Given the description of an element on the screen output the (x, y) to click on. 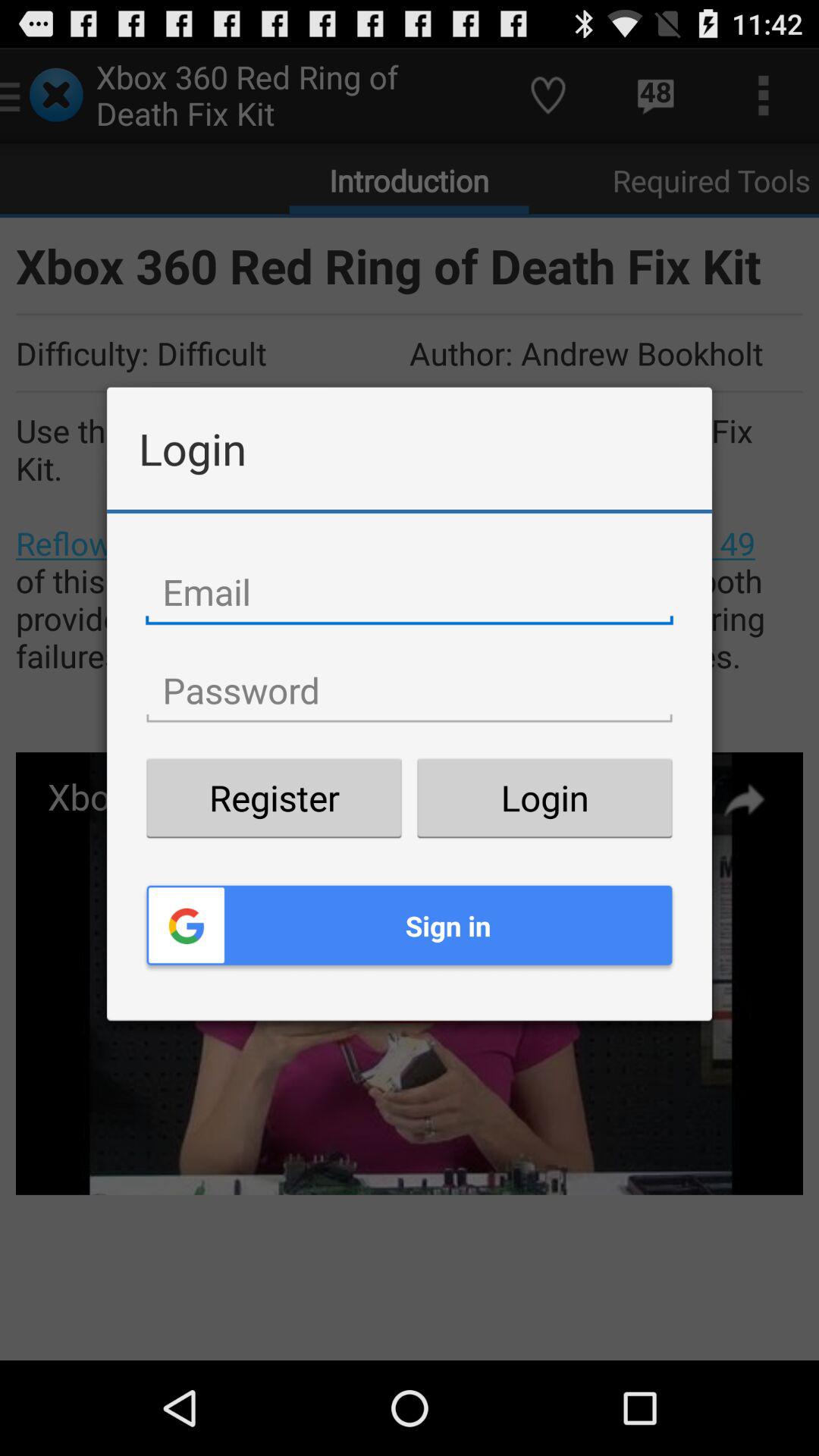
choose register item (273, 797)
